Given the description of an element on the screen output the (x, y) to click on. 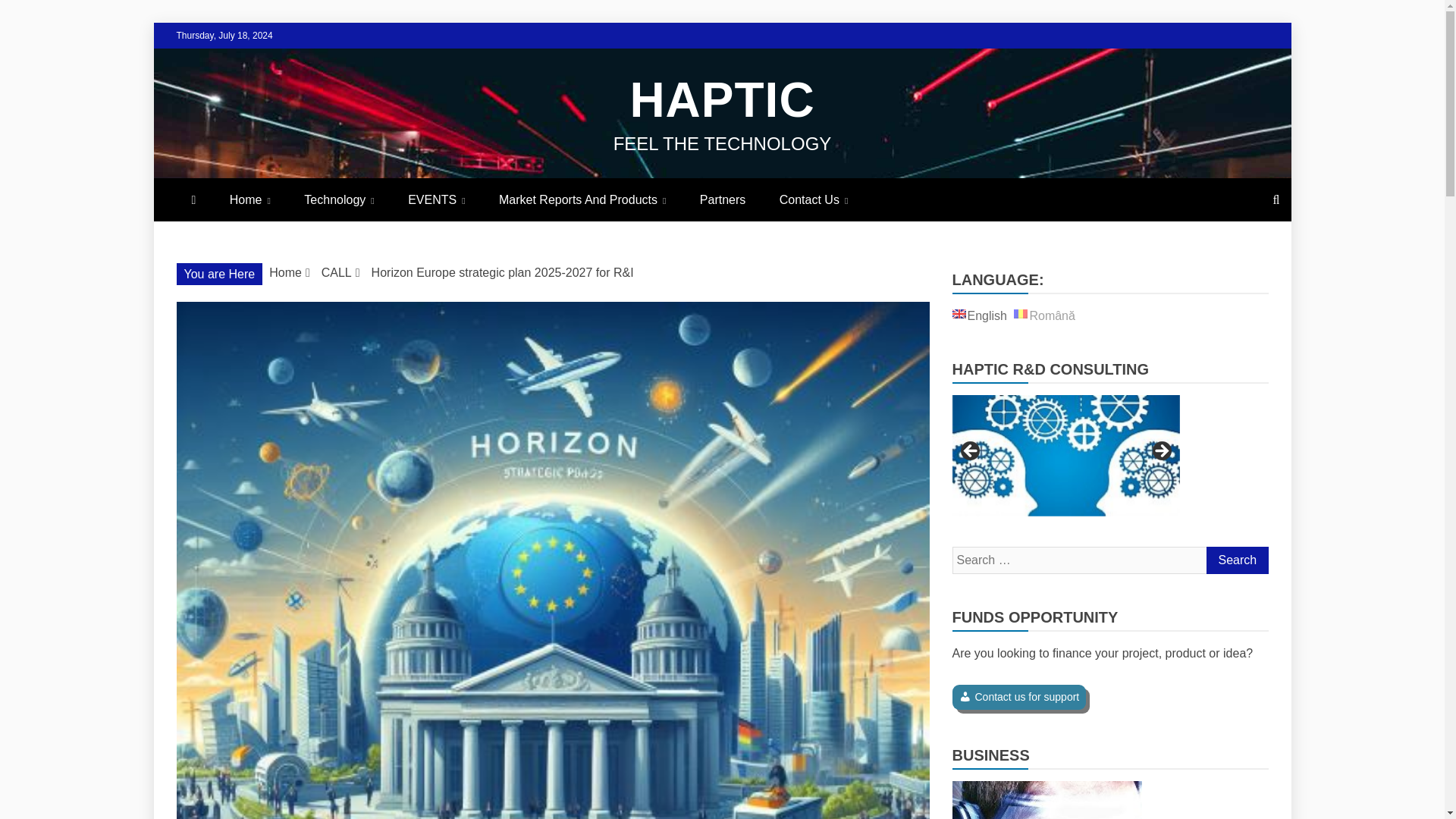
Search (1236, 560)
HAPTIC (720, 99)
Contact Us (813, 199)
Partners (722, 199)
Home (285, 272)
Market Reports And Products (582, 199)
EVENTS (436, 199)
Search (1236, 560)
CALL (336, 272)
Home (249, 199)
virtualreality (1046, 800)
Technology (338, 199)
